Given the description of an element on the screen output the (x, y) to click on. 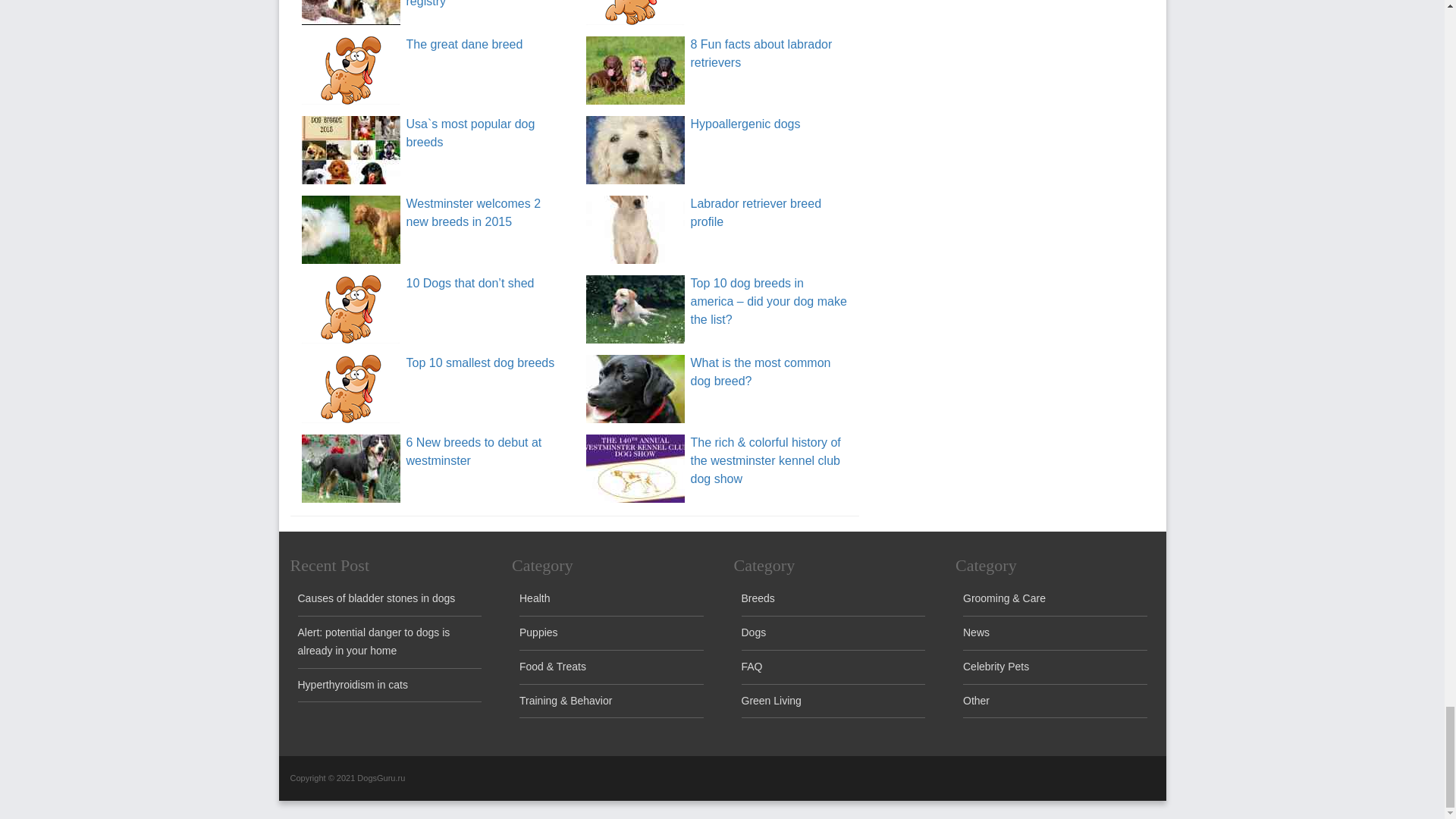
Westminster welcomes 2 new breeds in 2015 (473, 212)
6 New breeds to debut at westminster (473, 450)
The great dane breed (464, 43)
Hypoallergenic dogs (744, 123)
Top 10 smallest dog breeds (480, 362)
The great dane breed (350, 70)
Top 10 smallest dog breeds (480, 362)
Top 10 smallest dog breeds (350, 388)
